Given the description of an element on the screen output the (x, y) to click on. 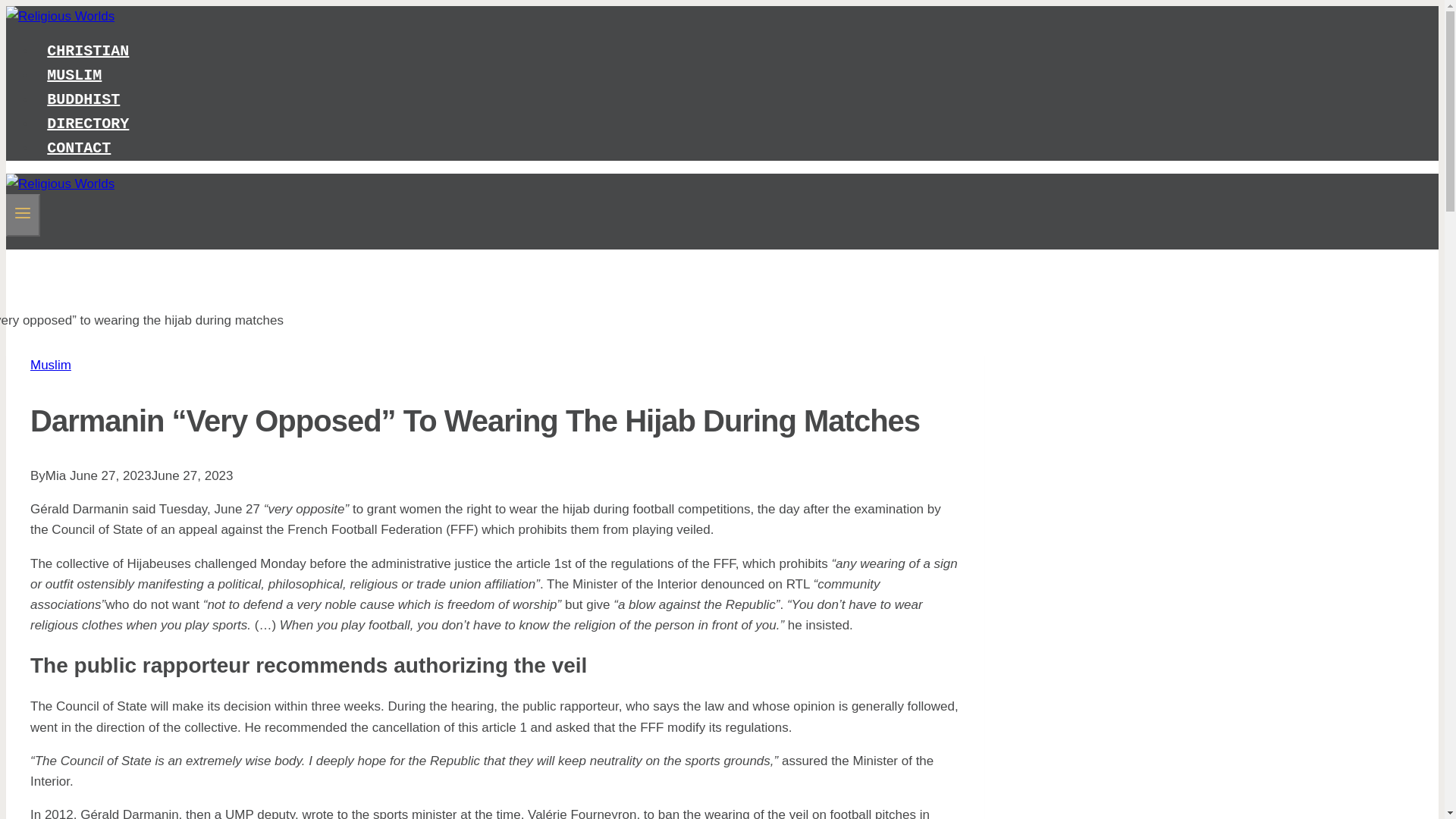
BUDDHIST (83, 99)
TOGGLE MENU (22, 212)
CHRISTIAN (87, 50)
CONTACT (79, 148)
DIRECTORY (87, 123)
Muslim (50, 364)
MUSLIM (74, 75)
